Given the description of an element on the screen output the (x, y) to click on. 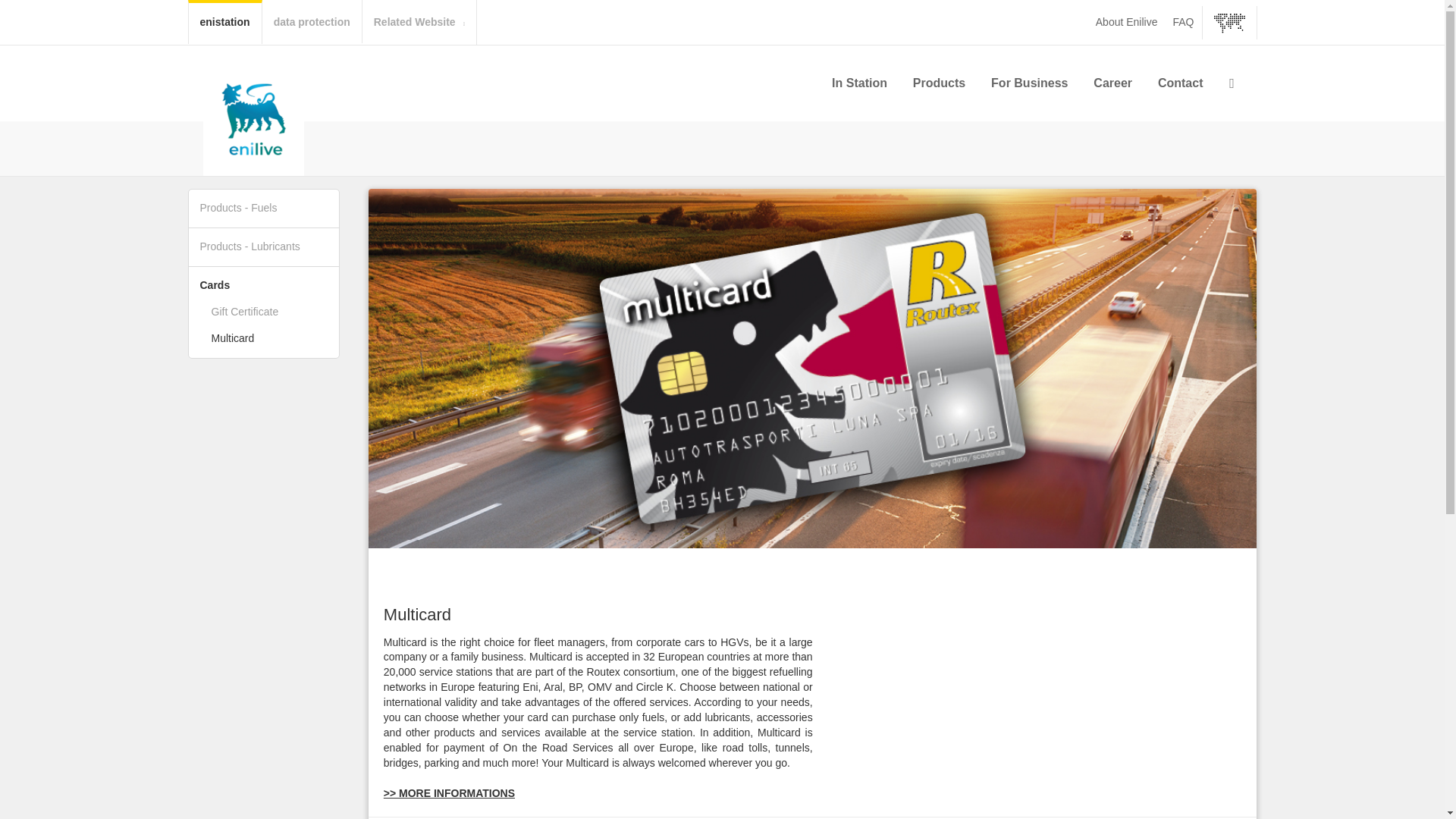
FAQ (1182, 20)
Go to Faq (1182, 20)
Go to About Agip (1126, 20)
DSGVO (311, 21)
About Enilive (1126, 20)
Products (938, 82)
data protection (311, 21)
In Station (858, 82)
Go to In Station (858, 82)
Related Website (419, 22)
Related Website (419, 22)
Search button (1231, 83)
Go to enistation (223, 21)
